Given the description of an element on the screen output the (x, y) to click on. 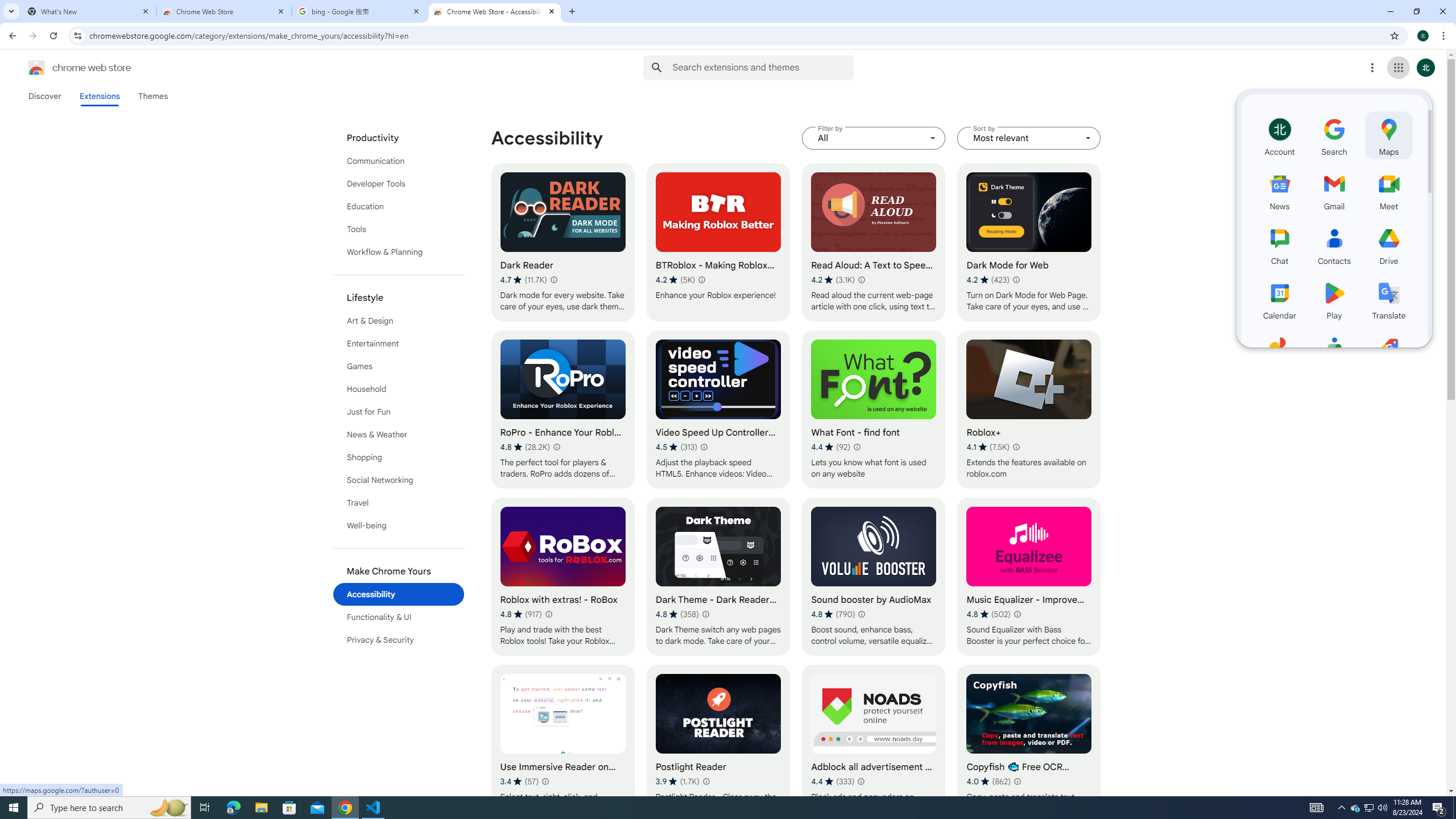
Workflow & Planning (398, 251)
Travel (398, 502)
Well-being (398, 525)
Music Equalizer - Improve Sound for everyone (1028, 576)
Average rating 4.7 out of 5 stars. 11.7K ratings. (523, 279)
Chrome Web Store logo chrome web store (67, 67)
Dark Theme - Dark Reader for Web (718, 576)
Discover (43, 95)
More options menu (1372, 67)
List of categories in Chrome Web Store. (398, 388)
Learn more about results and reviews "Dark Mode for Web" (1015, 279)
